Given the description of an element on the screen output the (x, y) to click on. 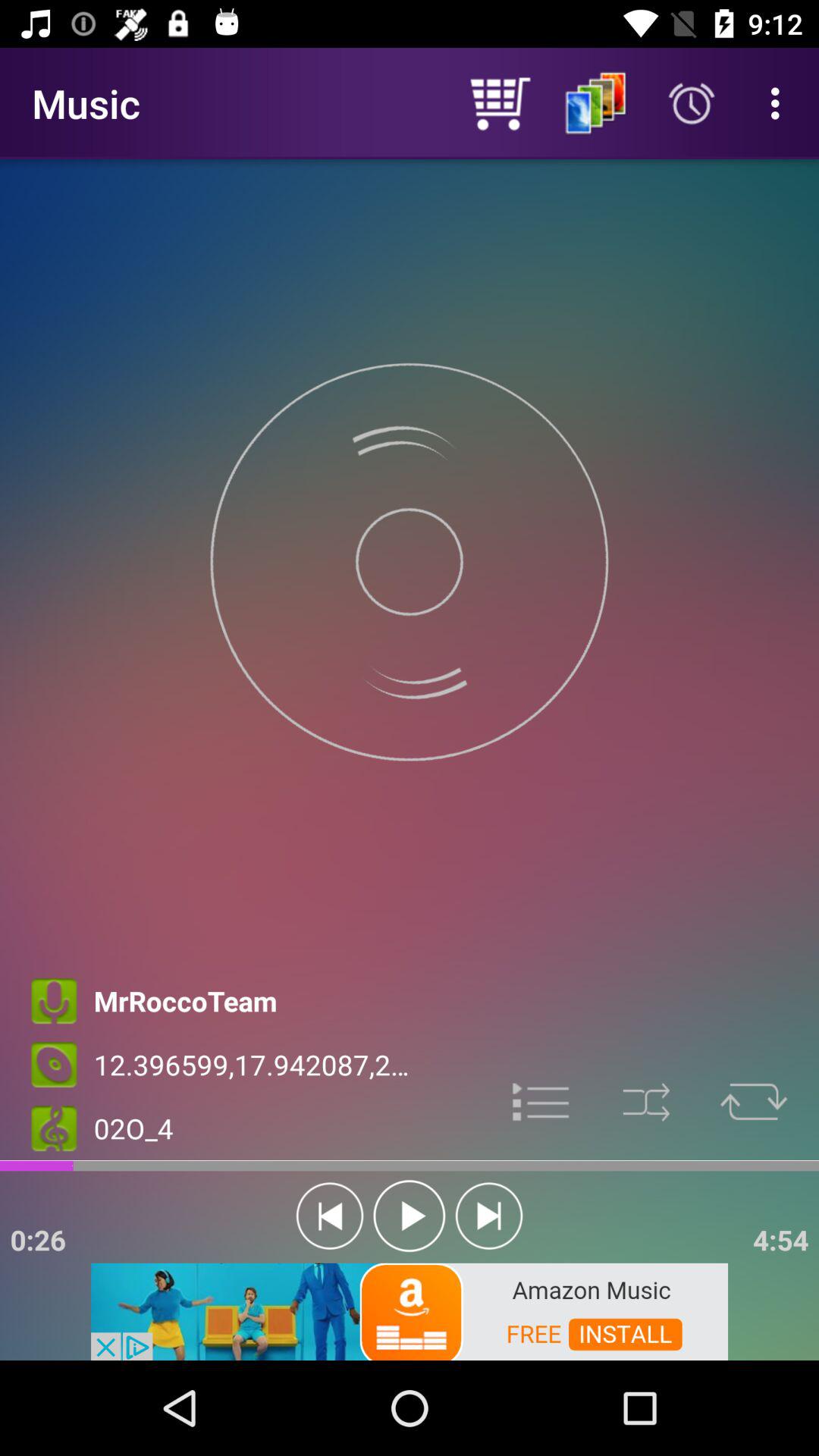
menu option (541, 1100)
